Given the description of an element on the screen output the (x, y) to click on. 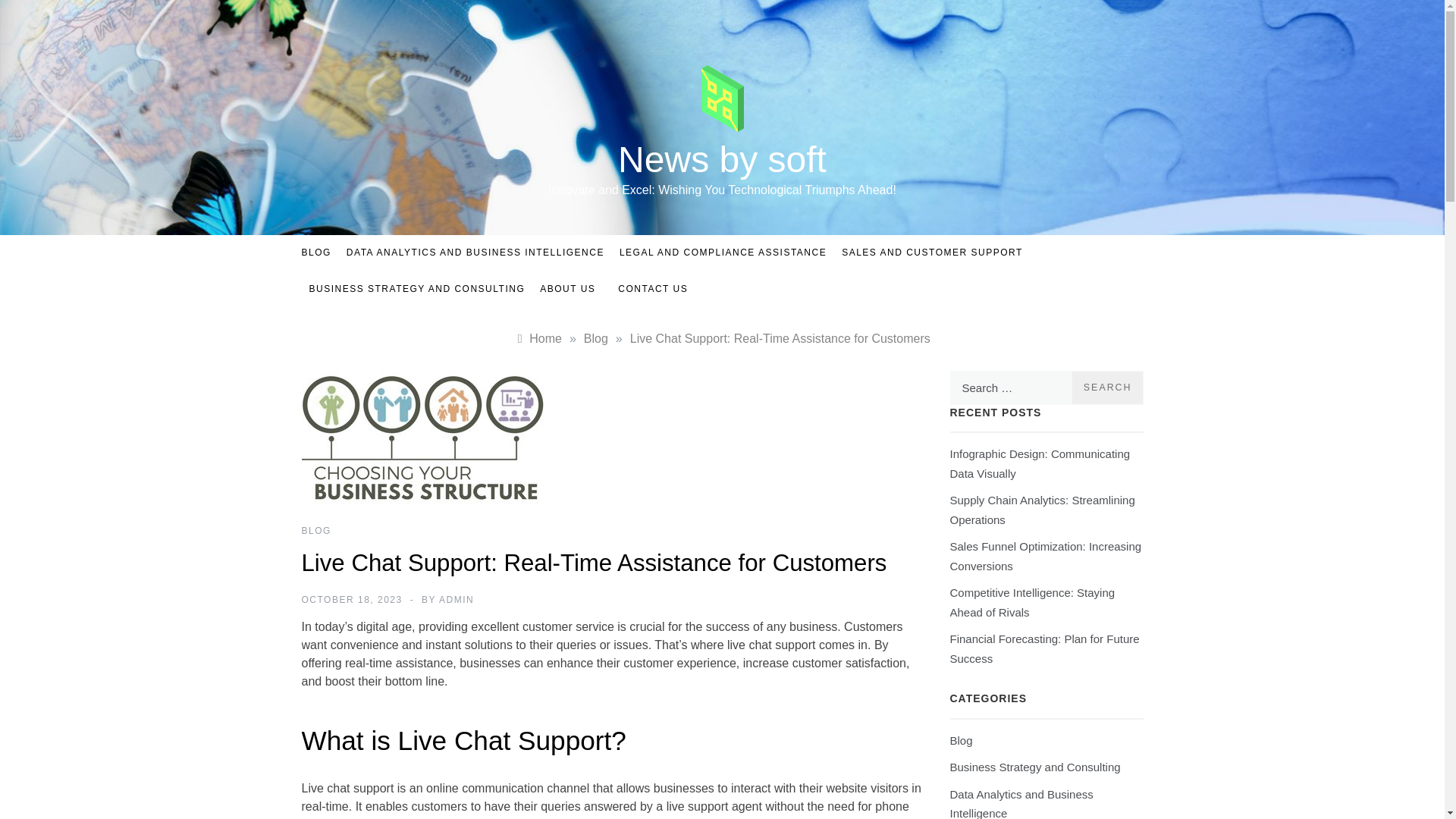
Infographic Design: Communicating Data Visually (1039, 463)
ADMIN (456, 599)
Home (537, 338)
Live Chat Support: Real-Time Assistance for Customers (780, 338)
OCTOBER 18, 2023 (352, 599)
BLOG (316, 530)
ABOUT US (567, 289)
BUSINESS STRATEGY AND CONSULTING (416, 289)
Search (1106, 387)
BLOG (320, 253)
Competitive Intelligence: Staying Ahead of Rivals (1032, 602)
Blog (960, 741)
CONTACT US (644, 288)
Financial Forecasting: Plan for Future Success (1043, 648)
Search (1106, 387)
